Given the description of an element on the screen output the (x, y) to click on. 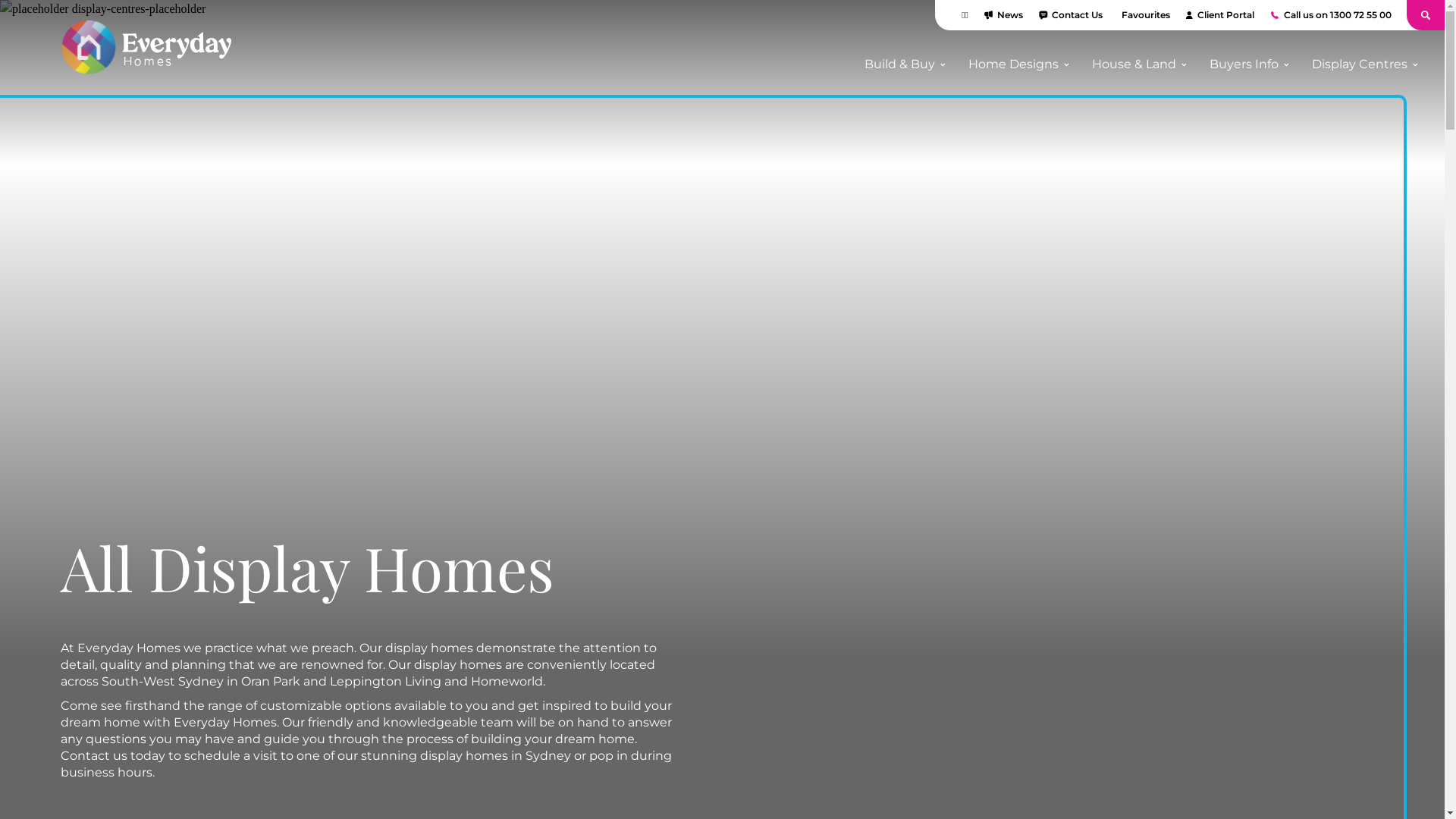
Call us on 1300 72 55 00 Element type: text (1330, 15)
Contact Us Element type: text (1070, 15)
Favourites Element type: text (1143, 15)
Client Portal Element type: text (1219, 15)
News Element type: text (1002, 15)
